Given the description of an element on the screen output the (x, y) to click on. 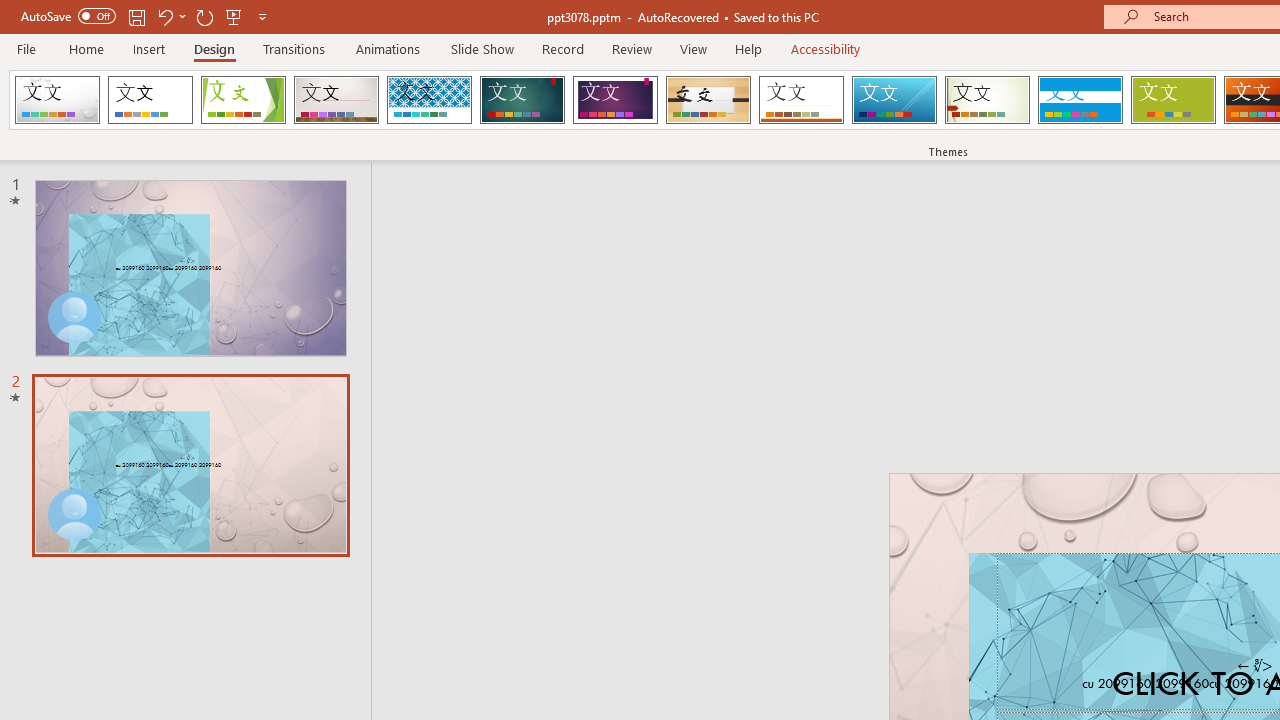
TextBox 7 (1254, 666)
Basis (1172, 100)
Ion Boardroom (615, 100)
Office Theme (150, 100)
Banded (1080, 100)
